Given the description of an element on the screen output the (x, y) to click on. 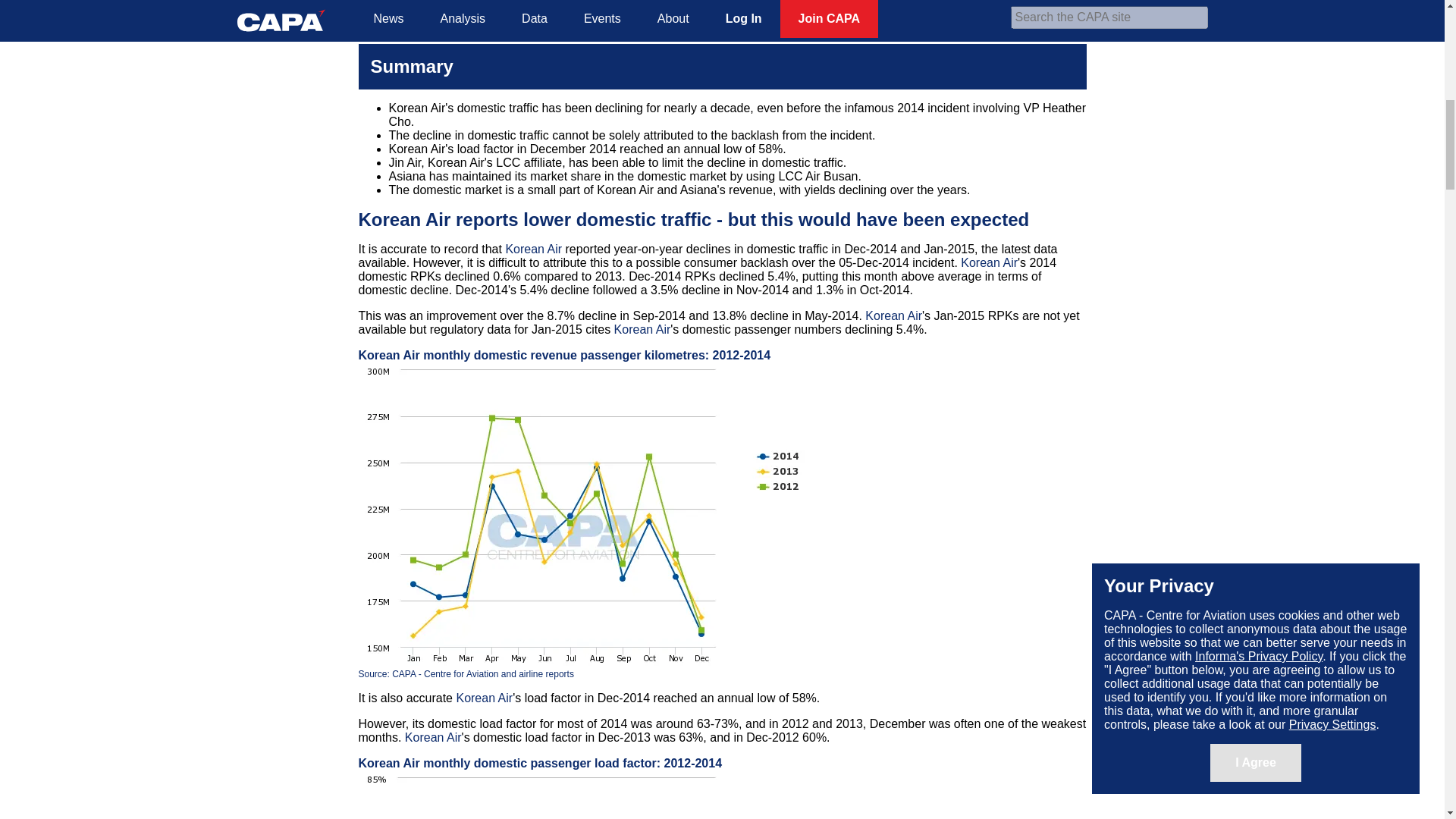
More information on 777 (423, 24)
More information on Korean Air (744, 2)
More information on Korean Air (739, 10)
More information on Korean Air (533, 248)
More information on Jin Air (1045, 10)
More information on Jin Air (993, 2)
More information on Korean Air (403, 219)
